Given the description of an element on the screen output the (x, y) to click on. 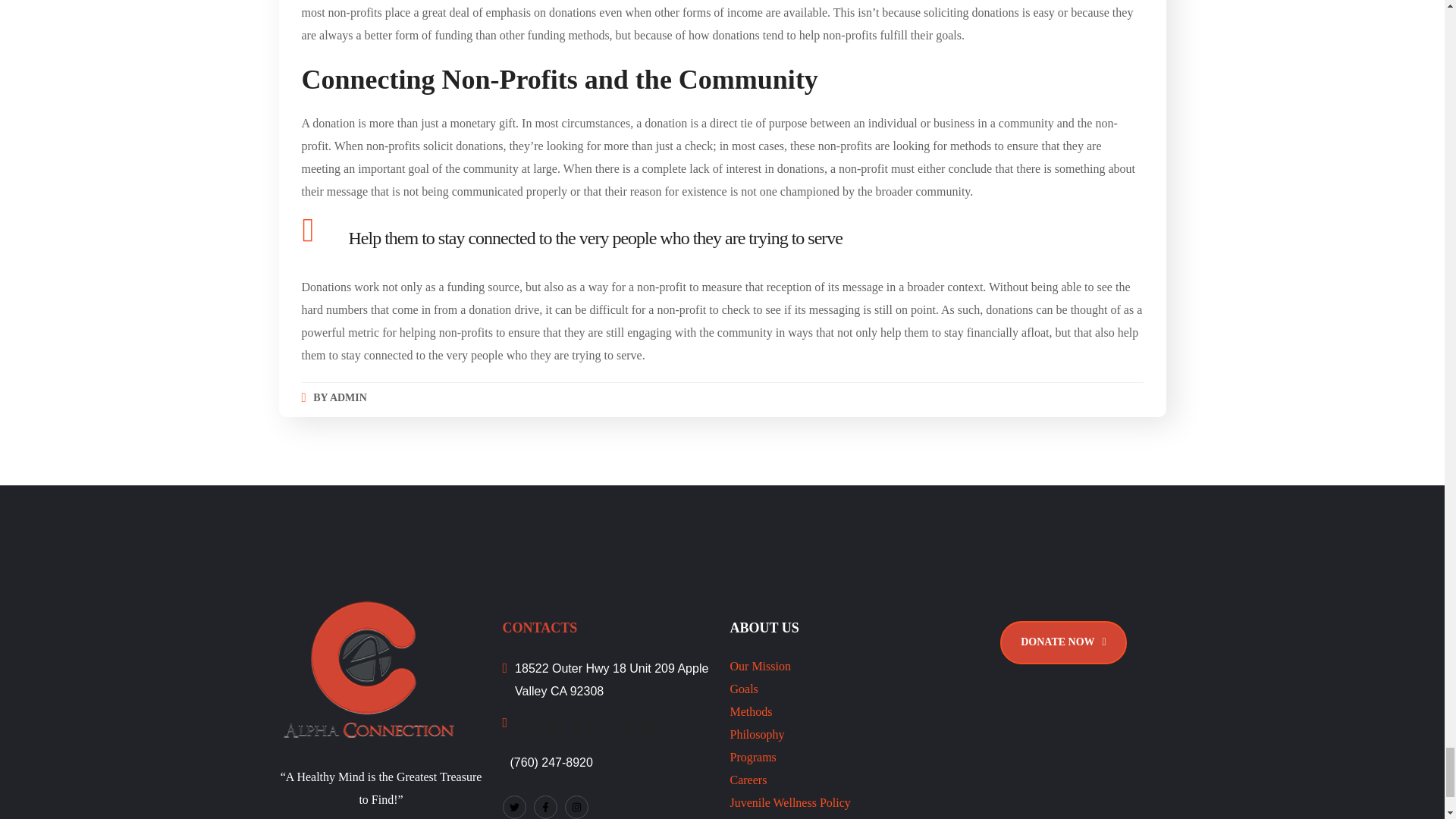
Twitter (513, 807)
Facebook (545, 807)
Instagram (576, 807)
